Given the description of an element on the screen output the (x, y) to click on. 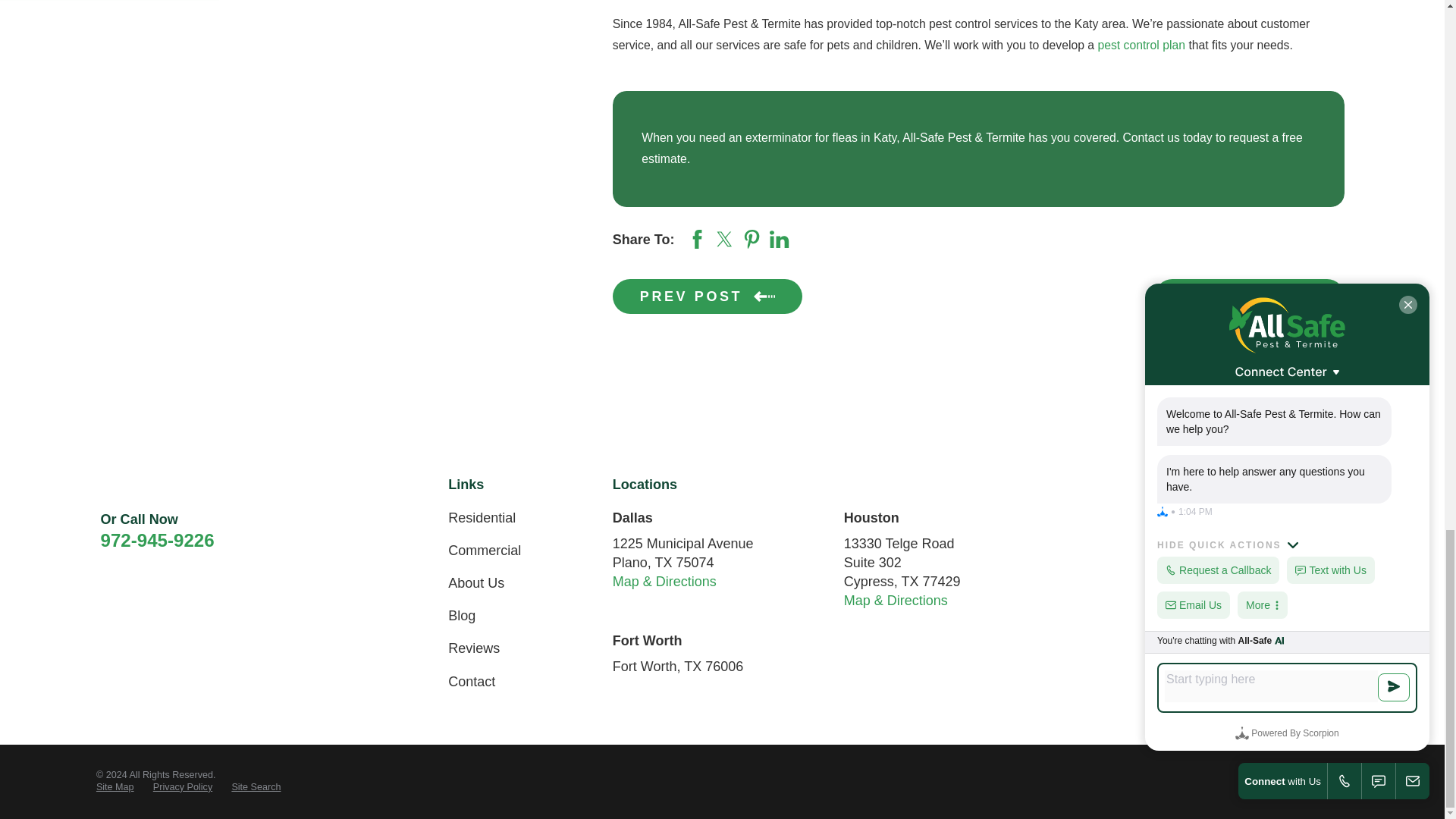
Google Business Profile (1234, 517)
Angie's List (1194, 517)
Yelp (1274, 517)
Facebook (1154, 517)
